Given the description of an element on the screen output the (x, y) to click on. 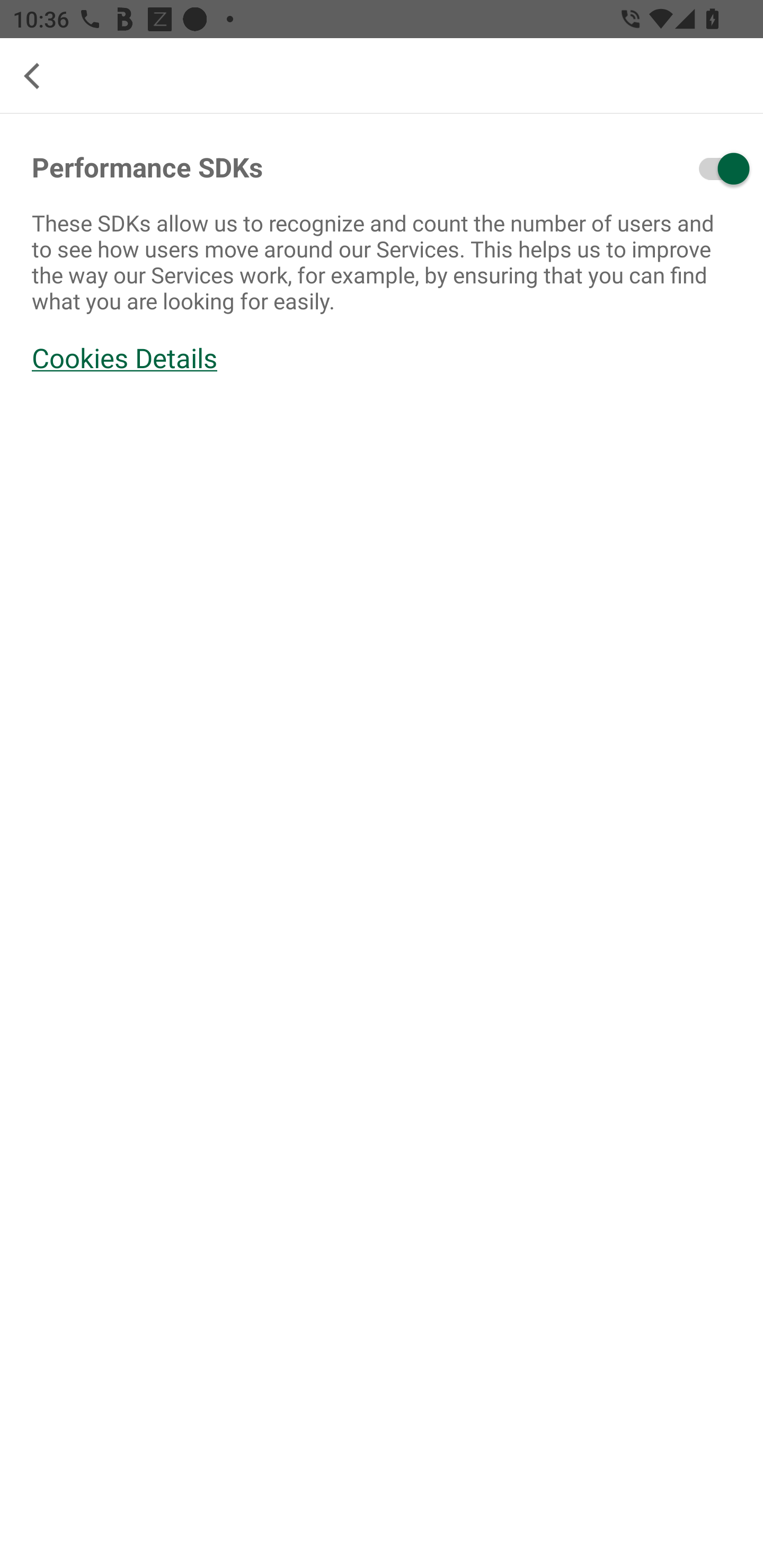
Back (39, 75)
Consent (671, 168)
Cookies Details (381, 358)
